Given the description of an element on the screen output the (x, y) to click on. 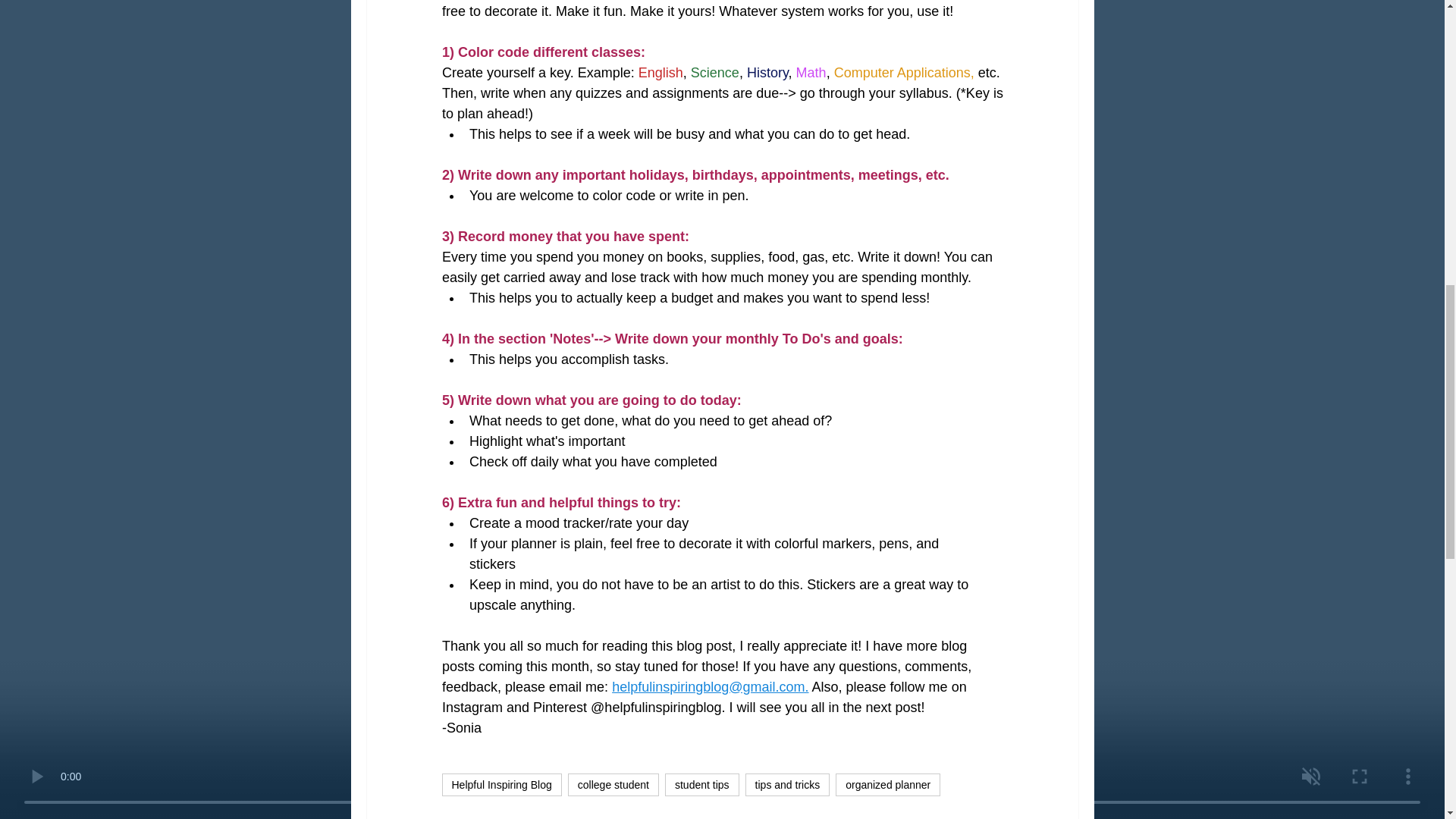
tips and tricks (787, 784)
college student (613, 784)
student tips (702, 784)
Helpful Inspiring Blog (500, 784)
organized planner (887, 784)
